Given the description of an element on the screen output the (x, y) to click on. 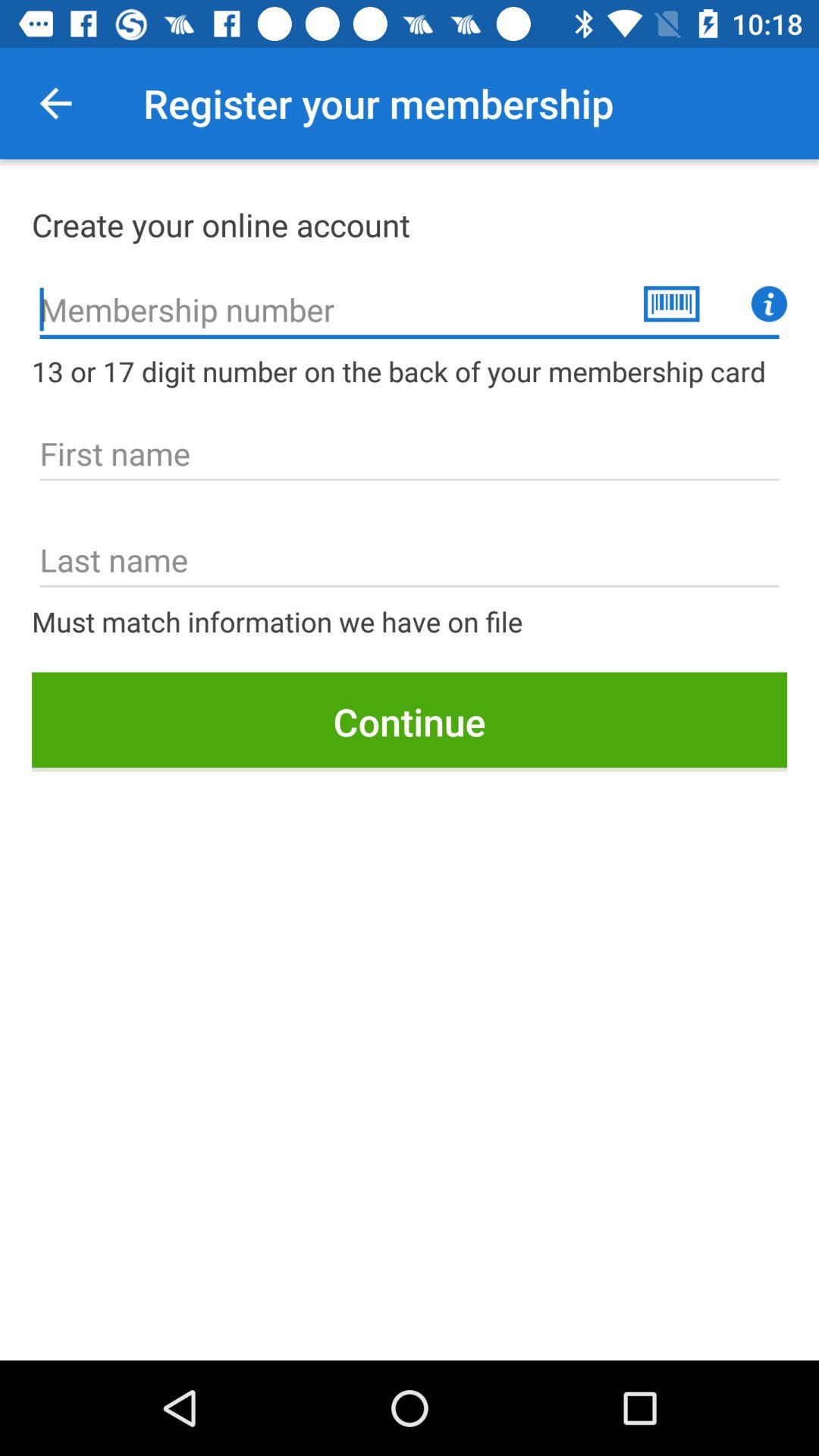
enter continue (409, 721)
click on information icon (769, 303)
type the membership number (55, 103)
select text below first name (409, 560)
select the text field of first name (409, 454)
